Given the description of an element on the screen output the (x, y) to click on. 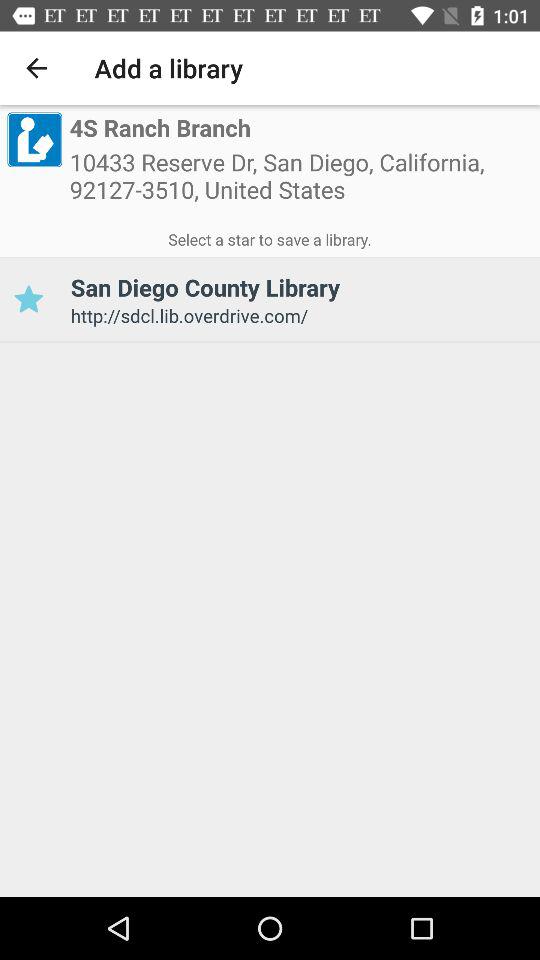
launch item below the san diego county (298, 315)
